Given the description of an element on the screen output the (x, y) to click on. 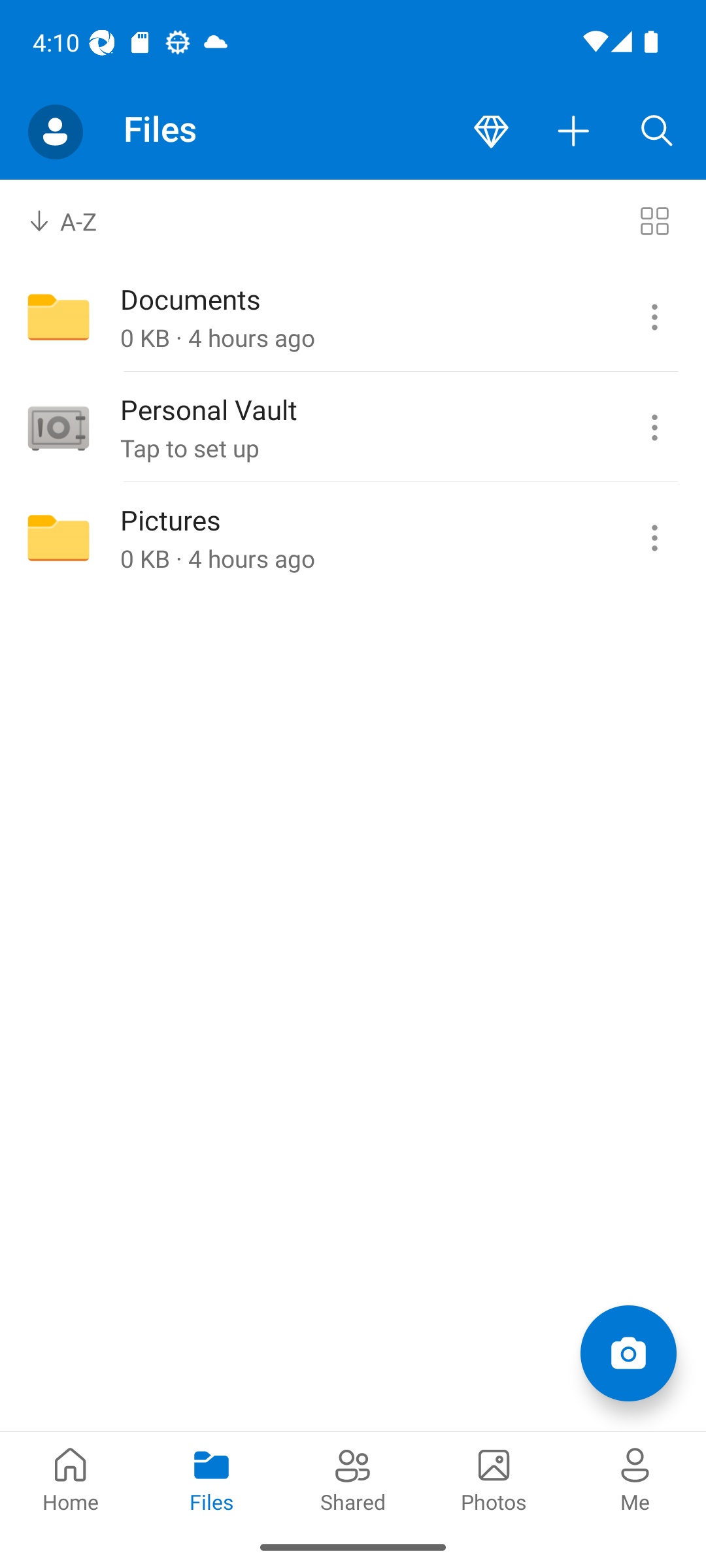
Account switcher (55, 131)
Premium button (491, 131)
More actions button (574, 131)
Search button (656, 131)
A-Z Sort by combo box, sort by name, A to Z (76, 220)
Switch to tiles view (654, 220)
Documents commands (654, 317)
Personal Vault commands (654, 427)
Pictures commands (654, 537)
Add items Scan (628, 1352)
Home pivot Home (70, 1478)
Shared pivot Shared (352, 1478)
Photos pivot Photos (493, 1478)
Me pivot Me (635, 1478)
